Given the description of an element on the screen output the (x, y) to click on. 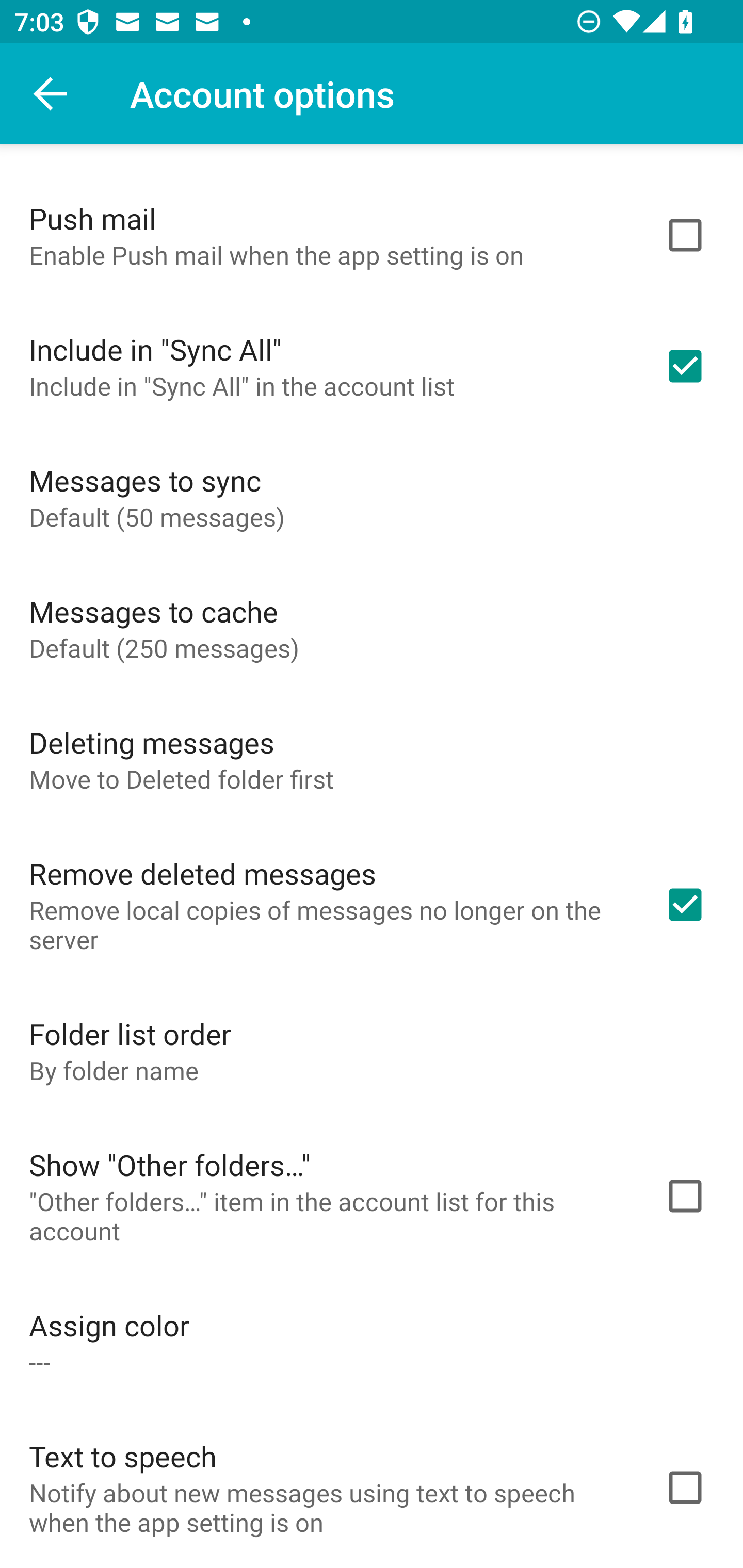
Navigate up (50, 93)
Messages to sync Default (50 messages) (371, 496)
Messages to cache Default (250 messages) (371, 627)
Deleting messages Move to Deleted folder first (371, 758)
Folder list order By folder name (371, 1050)
Assign color --- (371, 1342)
